Given the description of an element on the screen output the (x, y) to click on. 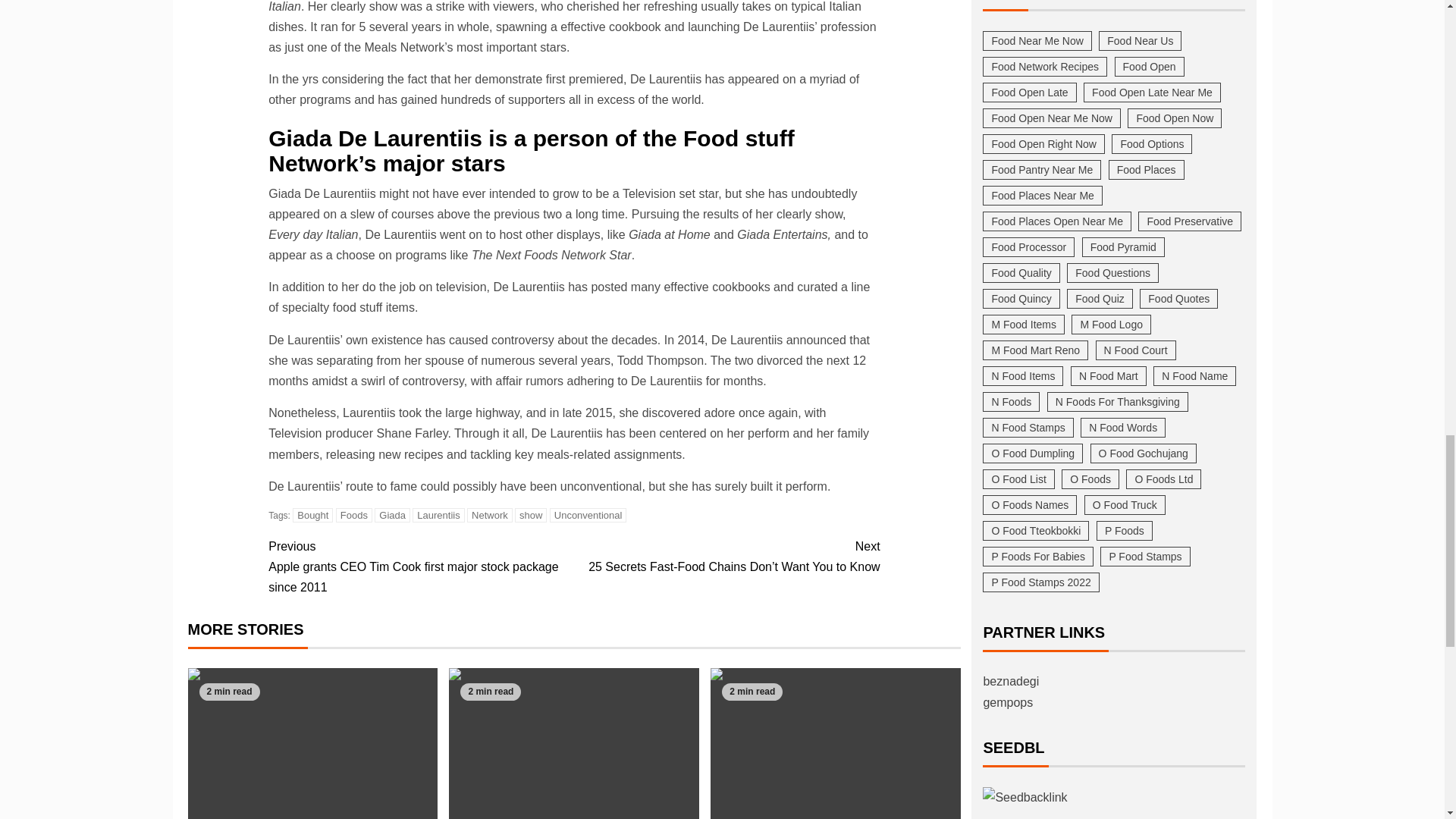
Network (489, 514)
Bought (312, 514)
These Should-Test Indoor Grill Recipes Are Best For Dinner (835, 743)
Foods (354, 514)
Laurentiis (438, 514)
Giada (392, 514)
